Given the description of an element on the screen output the (x, y) to click on. 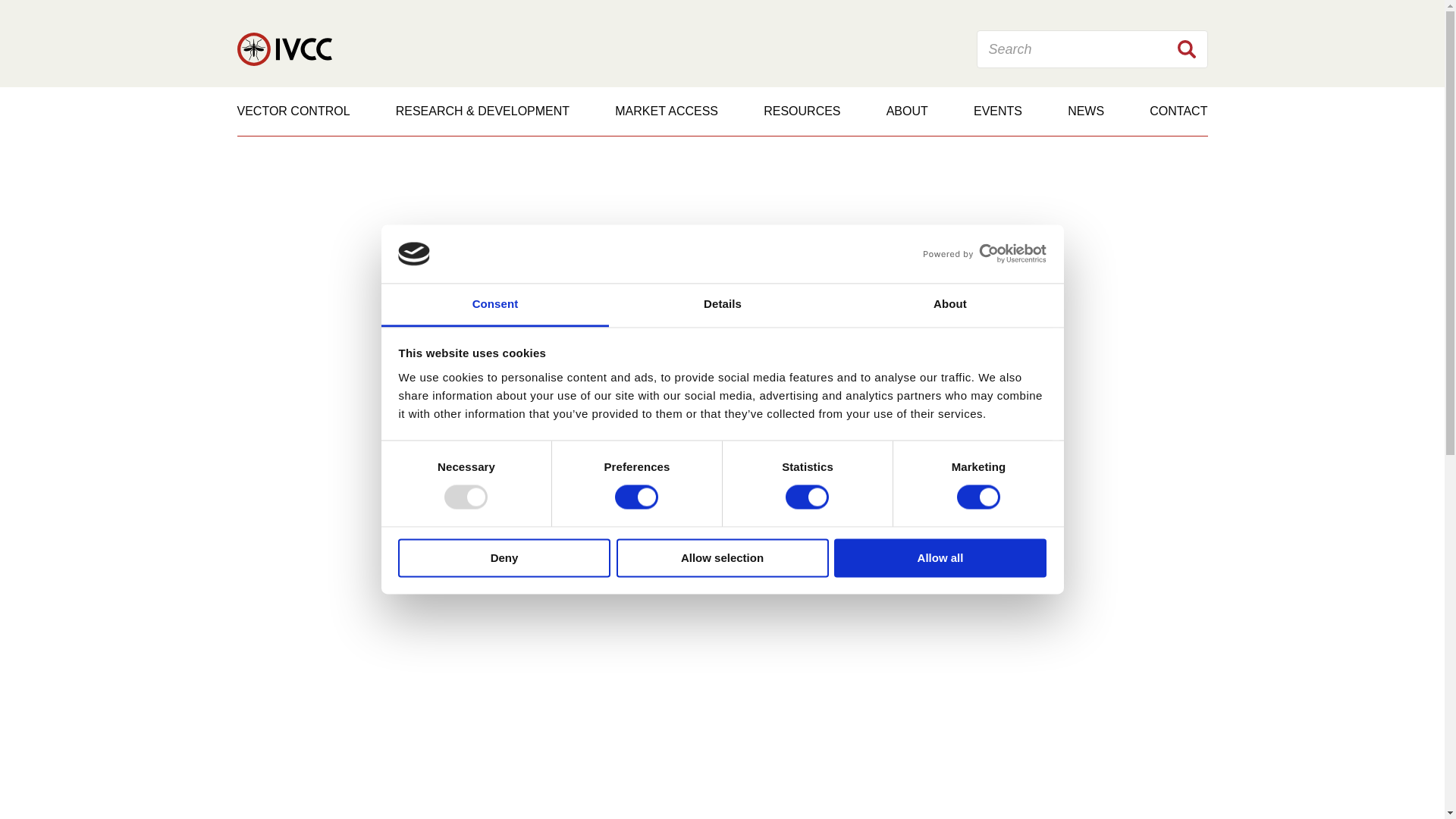
Consent (494, 304)
IVCC (283, 48)
Deny (503, 557)
Allow all (940, 557)
Allow selection (721, 557)
Details (721, 304)
About (948, 304)
